Given the description of an element on the screen output the (x, y) to click on. 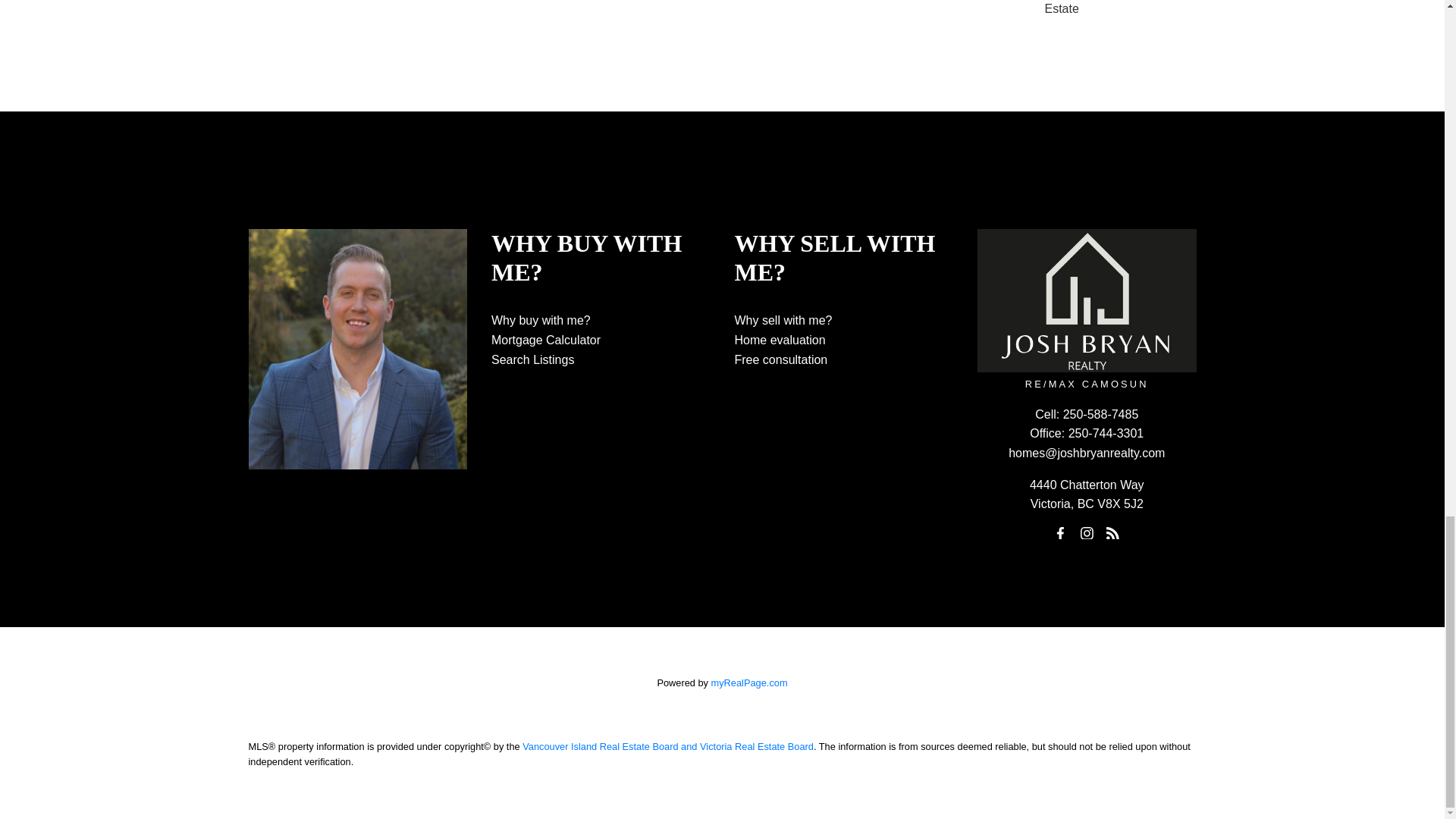
Blog (1113, 532)
instagram (1086, 532)
Facebook (1060, 532)
